Given the description of an element on the screen output the (x, y) to click on. 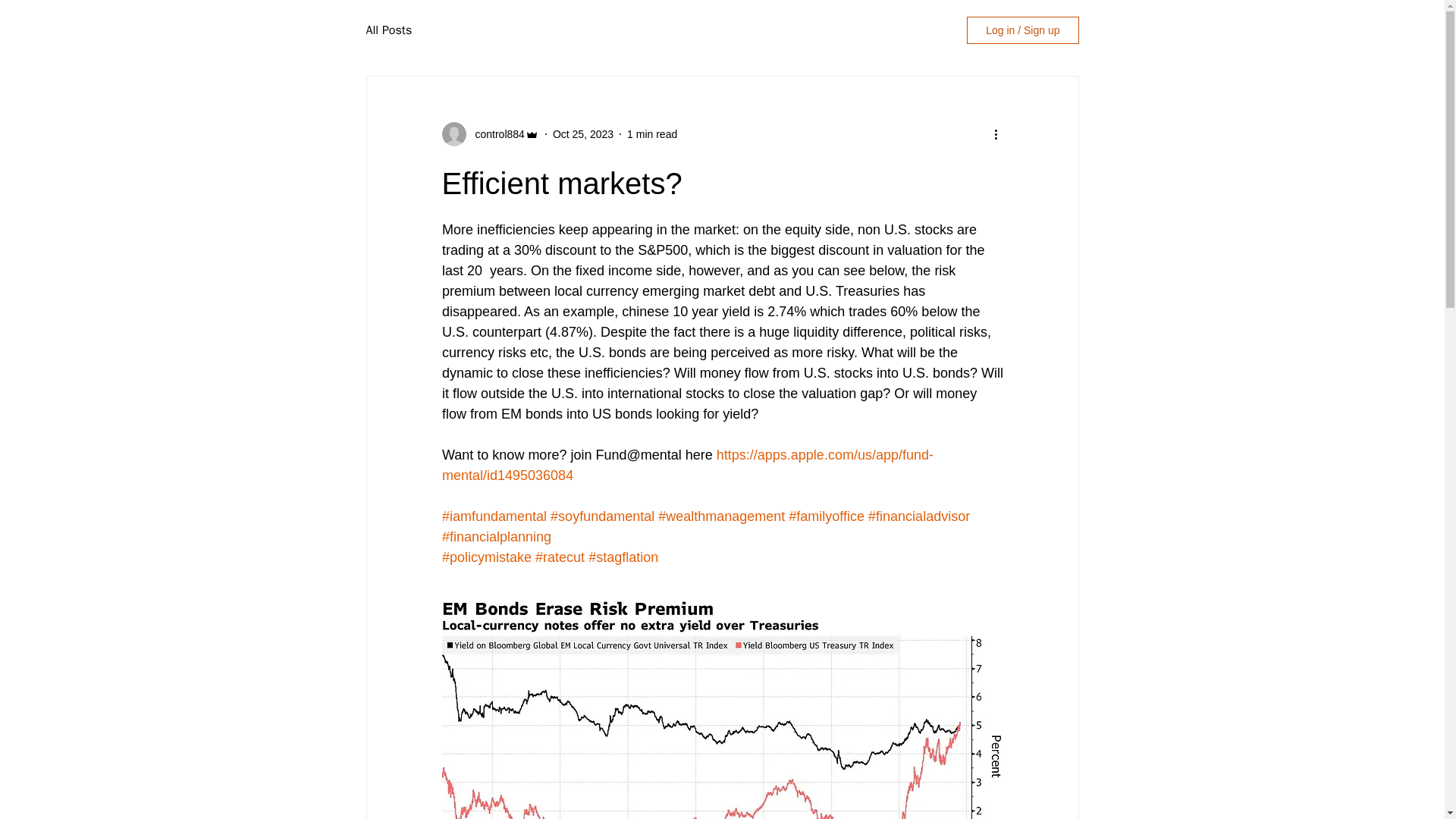
Oct 25, 2023 (582, 133)
All Posts (388, 30)
control884 (494, 133)
1 min read (652, 133)
